Given the description of an element on the screen output the (x, y) to click on. 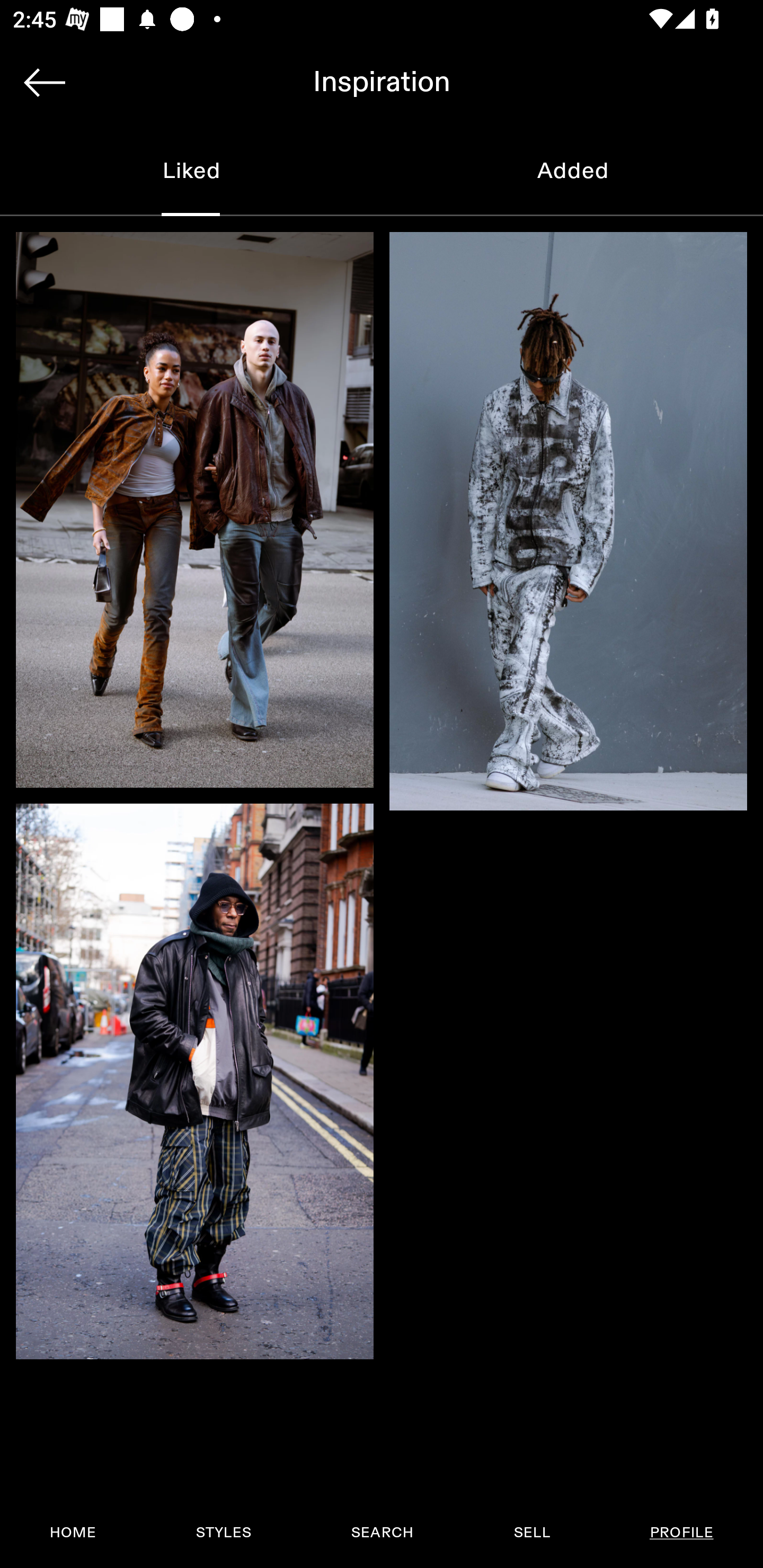
Added (572, 171)
HOME (72, 1532)
STYLES (222, 1532)
SEARCH (381, 1532)
SELL (531, 1532)
PROFILE (681, 1532)
